Given the description of an element on the screen output the (x, y) to click on. 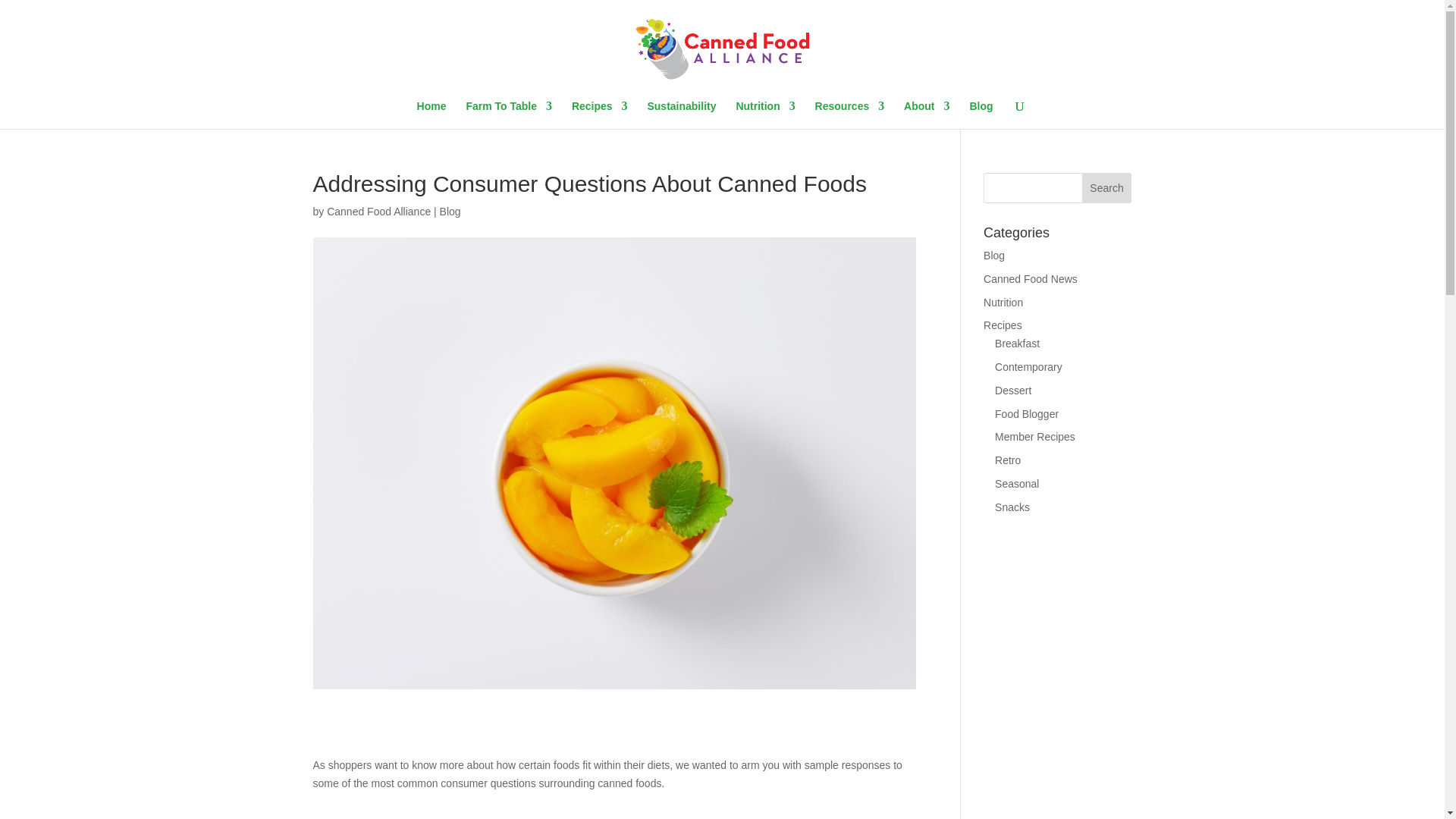
About (926, 114)
Sustainability (681, 114)
Search (1106, 187)
Farm To Table (508, 114)
Recipes (599, 114)
Home (431, 114)
Nutrition (764, 114)
Resources (850, 114)
Posts by Canned Food Alliance (378, 211)
